Given the description of an element on the screen output the (x, y) to click on. 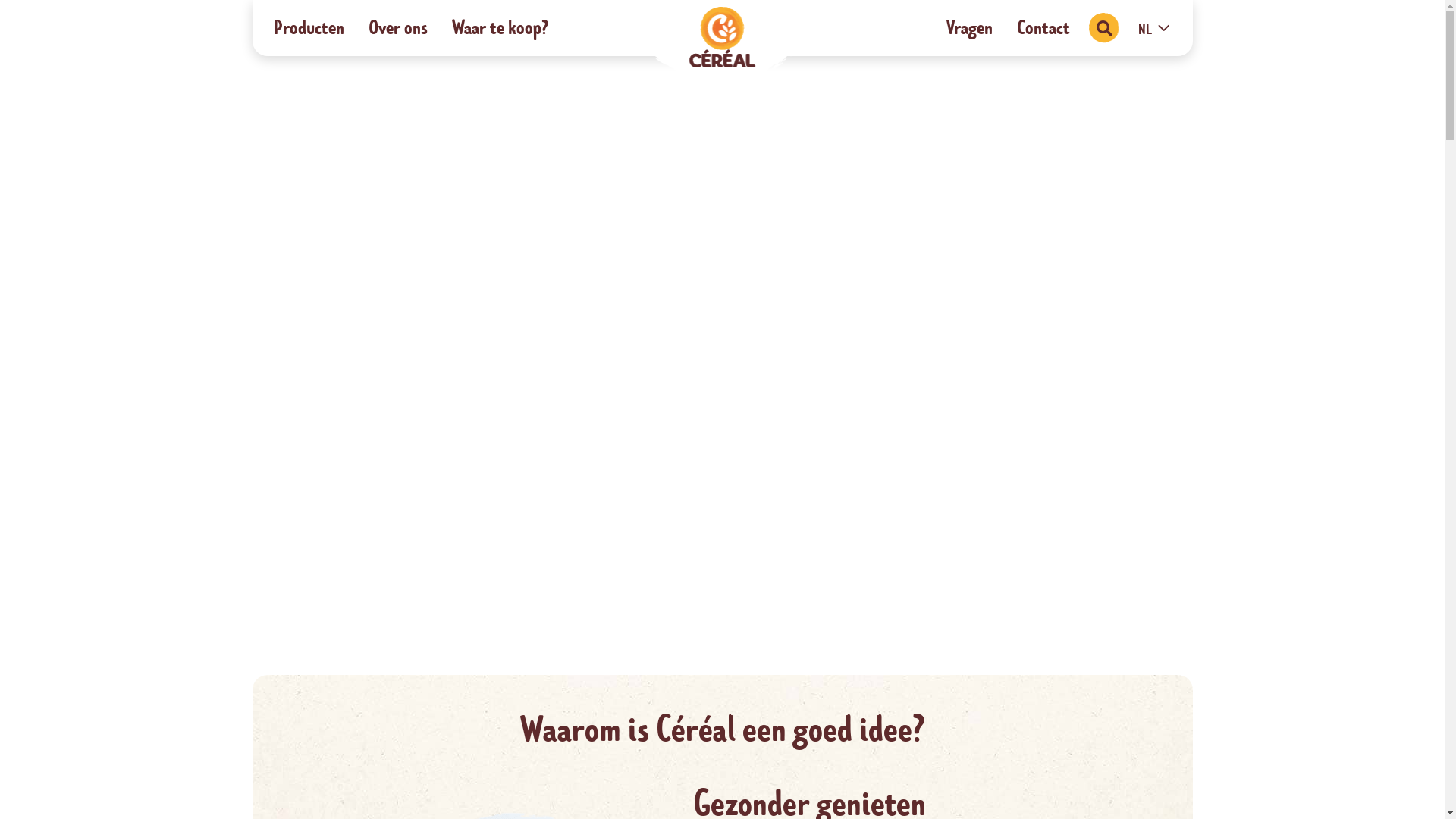
Waar te koop? Element type: text (499, 27)
Producten Element type: text (307, 27)
Over ons Element type: text (397, 27)
Contact Element type: text (1043, 27)
Vragen Element type: text (969, 27)
NL Element type: text (1154, 29)
